Given the description of an element on the screen output the (x, y) to click on. 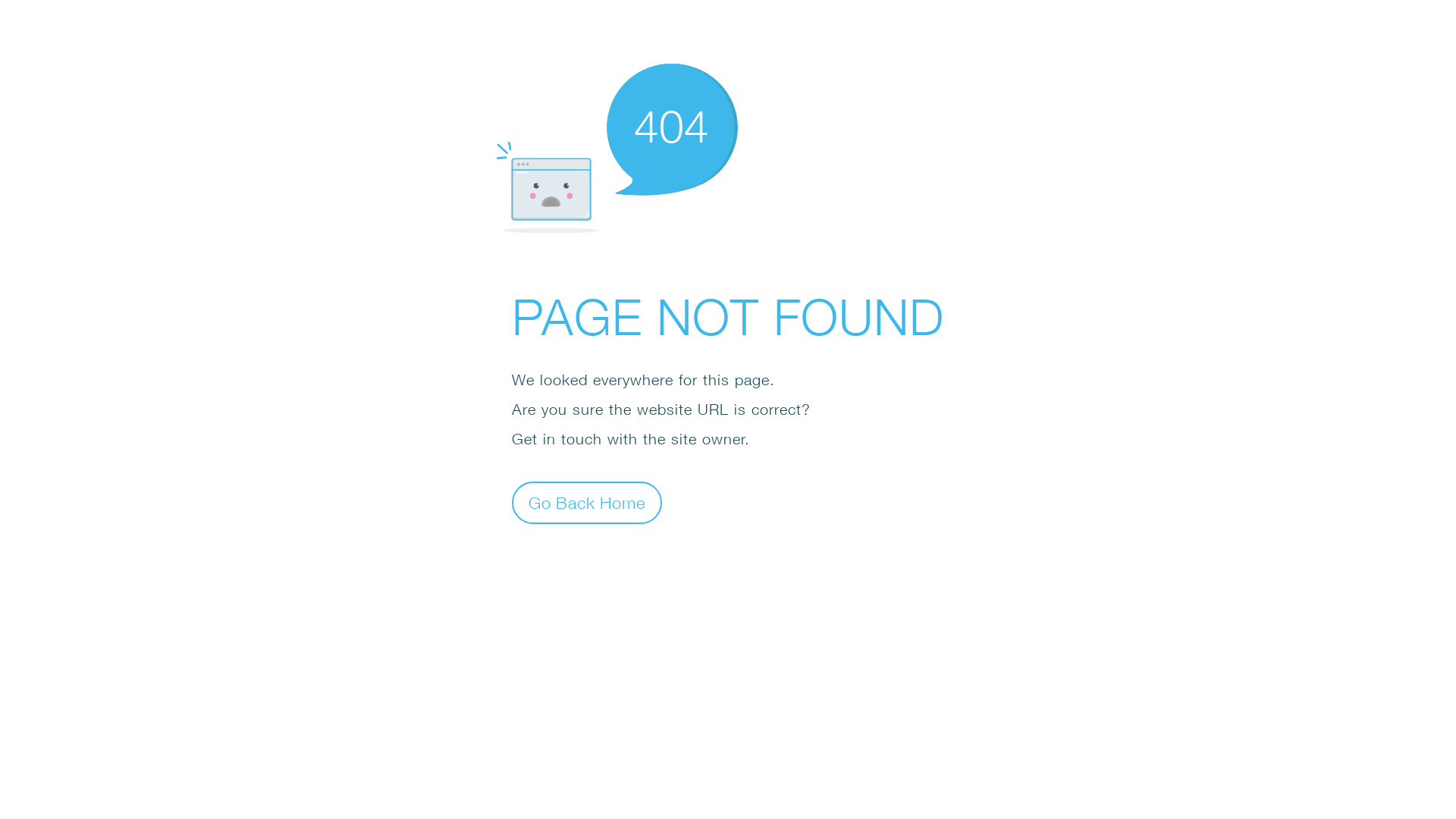
Go Back Home Element type: text (586, 502)
